Given the description of an element on the screen output the (x, y) to click on. 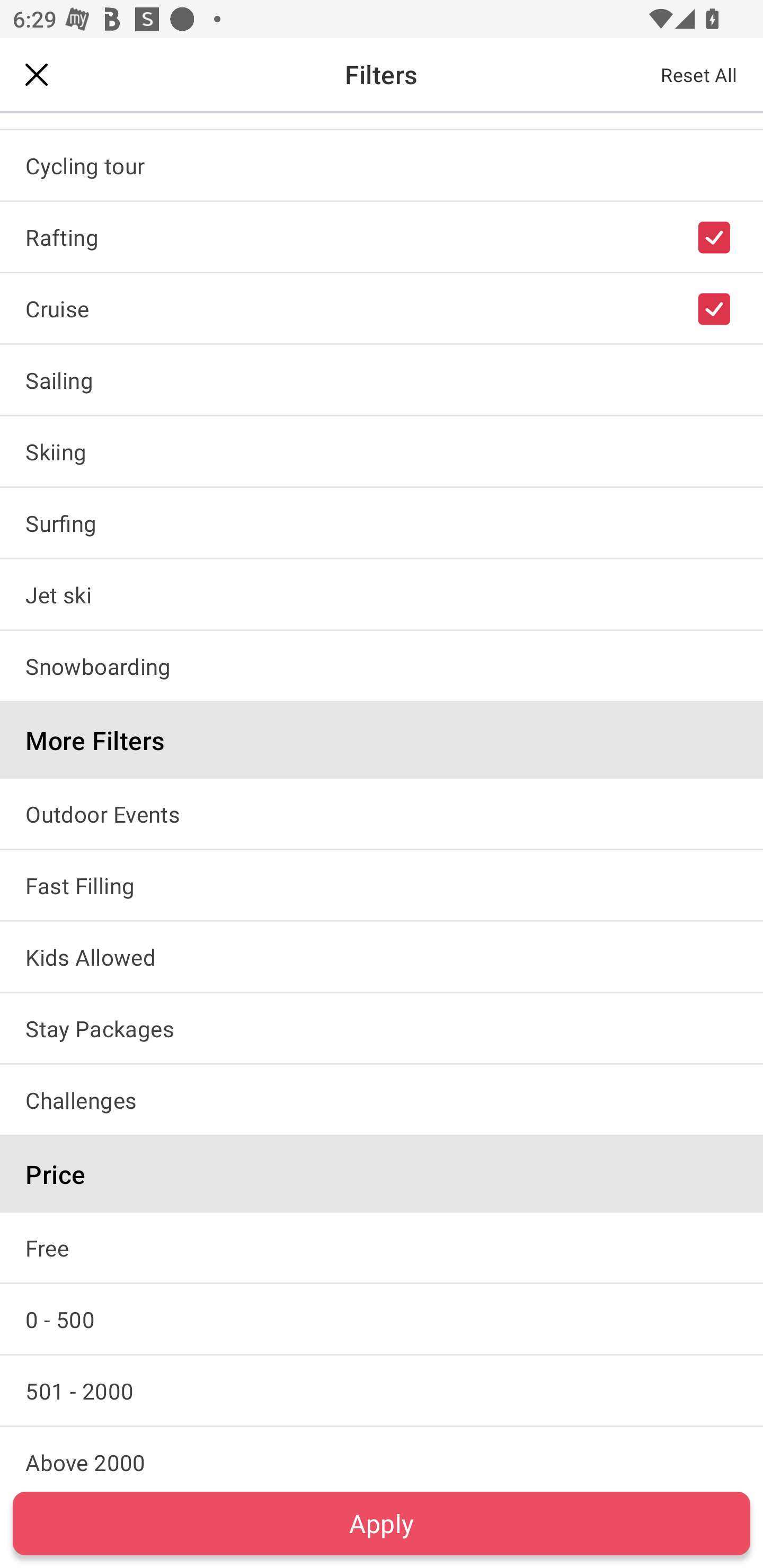
Close (36, 74)
Reset All (699, 74)
Cycling tour (381, 165)
Rafting  (381, 236)
Cruise  (381, 307)
Sailing (381, 379)
Skiing (381, 451)
Surfing (381, 522)
Jet ski (381, 593)
Snowboarding (381, 665)
Outdoor Events (381, 813)
Fast Filling (381, 884)
Kids Allowed (381, 955)
Stay Packages (381, 1027)
Challenges (381, 1099)
Free (381, 1247)
0 - 500 (381, 1319)
501 - 2000 (381, 1390)
Above 2000 (381, 1452)
Apply (381, 1523)
